Given the description of an element on the screen output the (x, y) to click on. 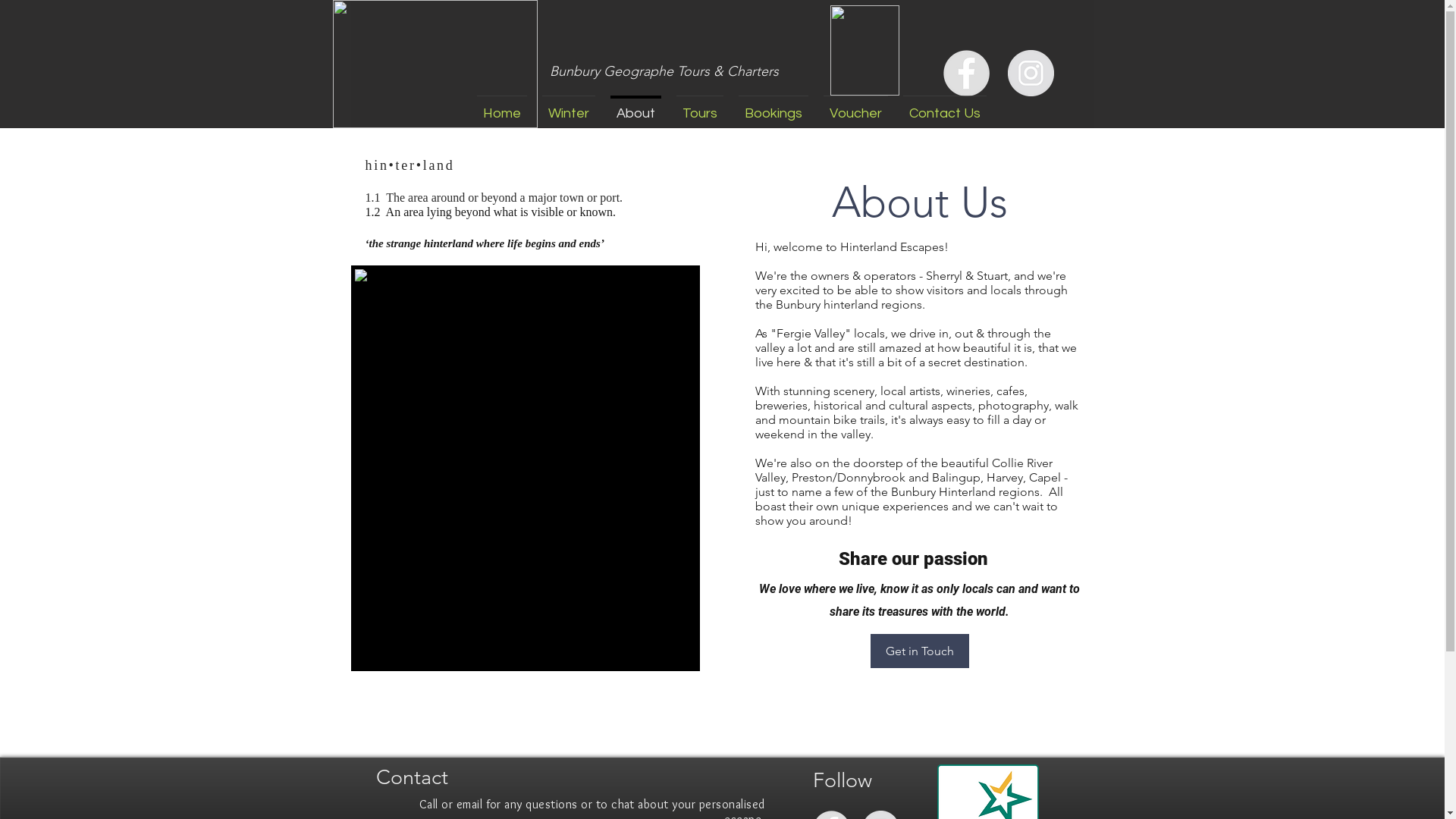
Contact Us Element type: text (943, 106)
Winter Element type: text (567, 106)
Get in Touch Element type: text (919, 650)
QTAB.png Element type: hover (863, 50)
About Element type: text (635, 106)
Bookings Element type: text (773, 106)
Tours Element type: text (699, 106)
Pile Road Ferguson Valley Element type: hover (524, 468)
Voucher Element type: text (855, 106)
Home Element type: text (500, 106)
